Given the description of an element on the screen output the (x, y) to click on. 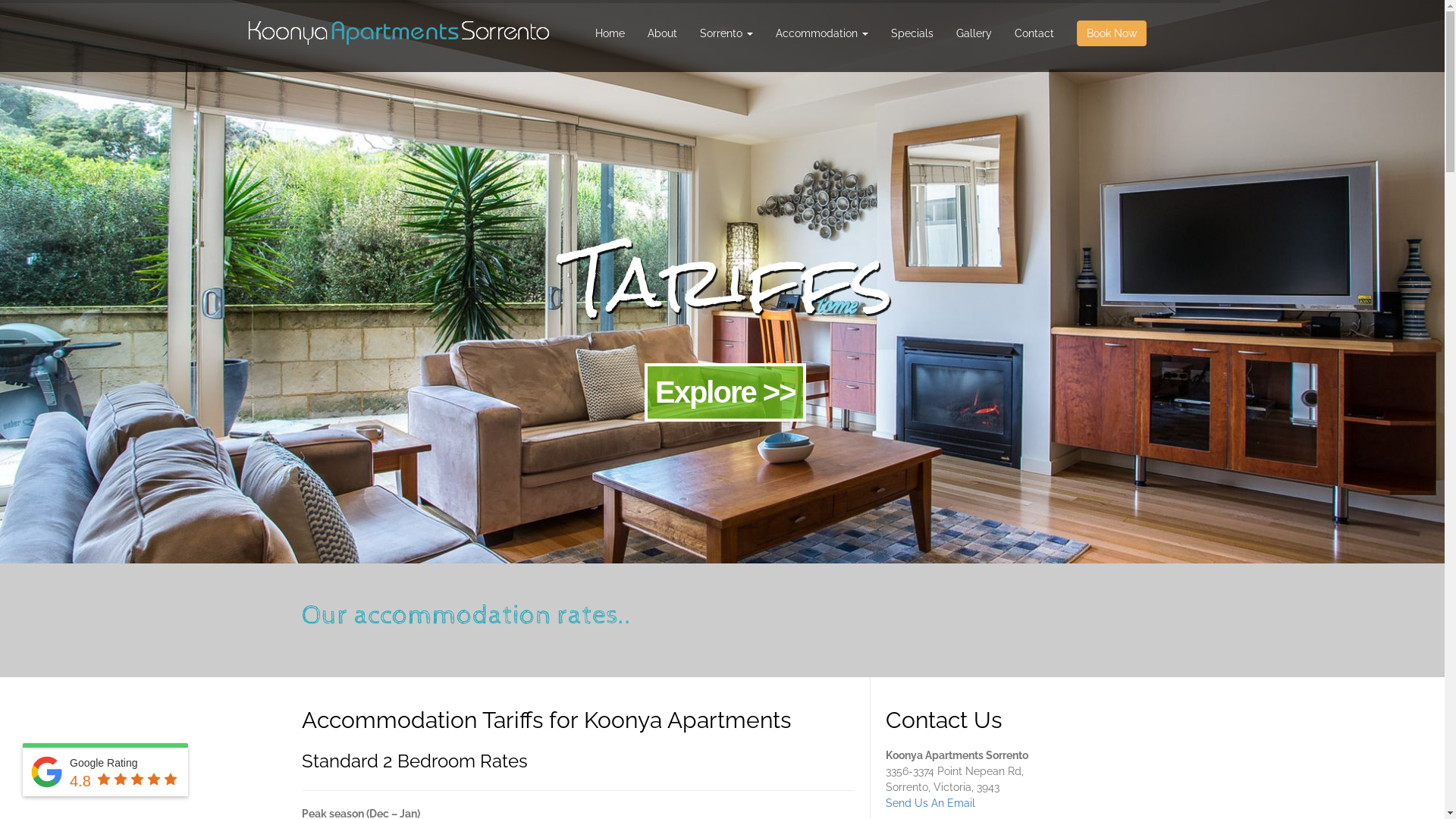
Explore >> Element type: text (725, 391)
Contact Element type: text (1034, 33)
Gallery Element type: text (973, 33)
Book Now Element type: text (1111, 35)
Sorrento Element type: text (726, 33)
Specials Element type: text (911, 33)
About Element type: text (662, 33)
Accommodation Element type: text (821, 33)
Home Element type: text (609, 33)
Send Us An Email Element type: text (930, 803)
